Given the description of an element on the screen output the (x, y) to click on. 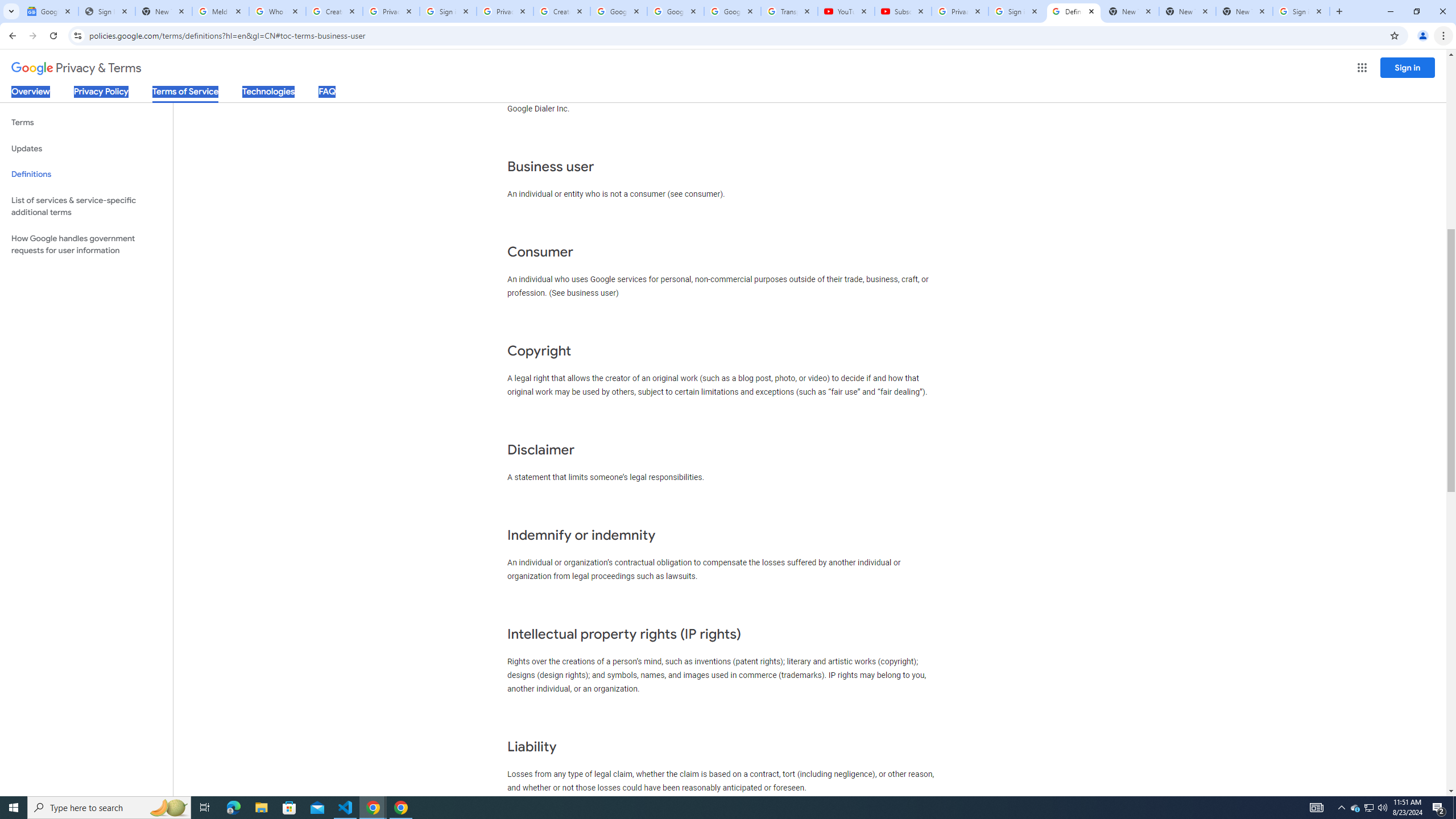
Google Account (731, 11)
YouTube (845, 11)
Google News (49, 11)
